Given the description of an element on the screen output the (x, y) to click on. 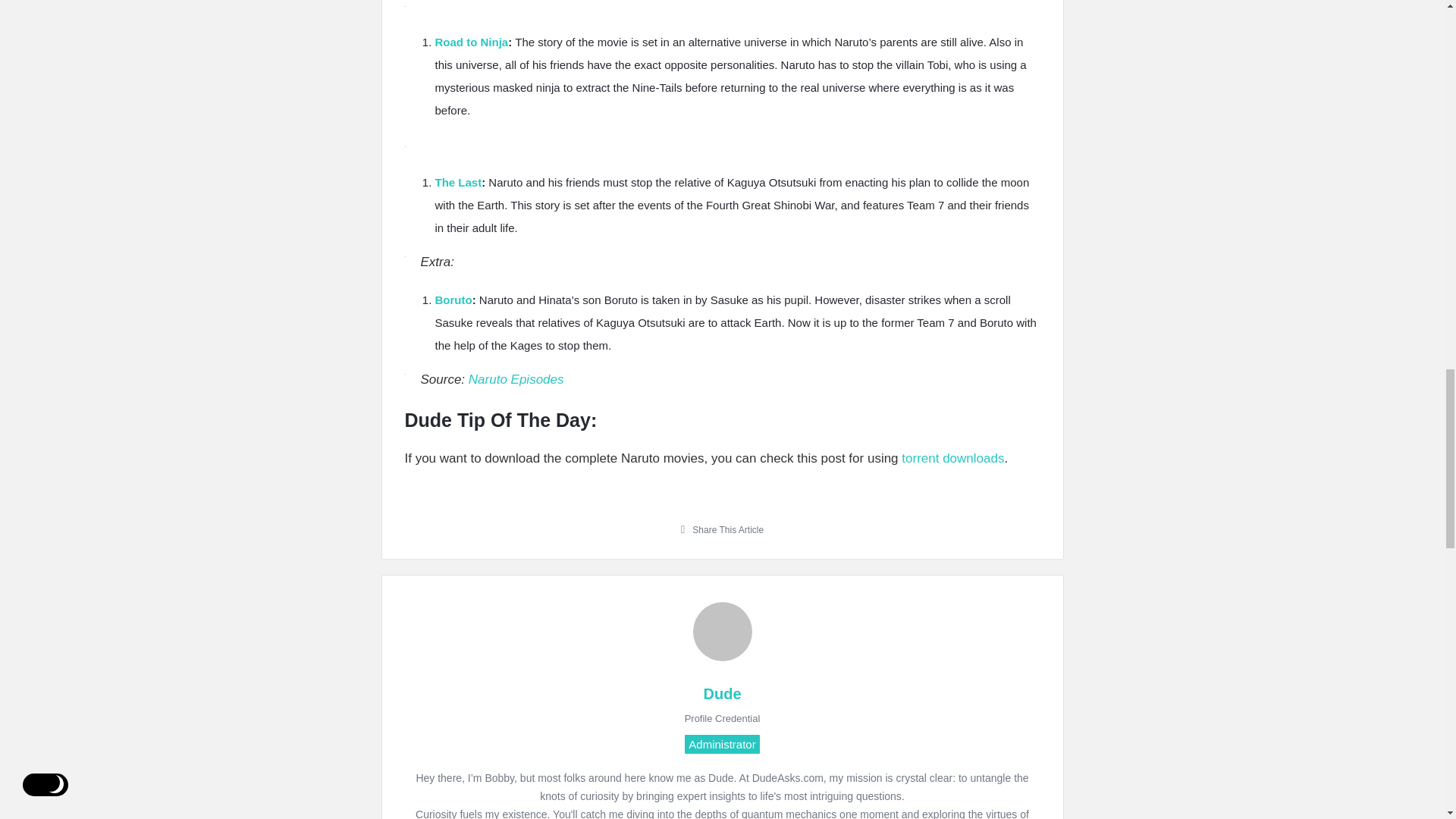
Dude (722, 631)
